Given the description of an element on the screen output the (x, y) to click on. 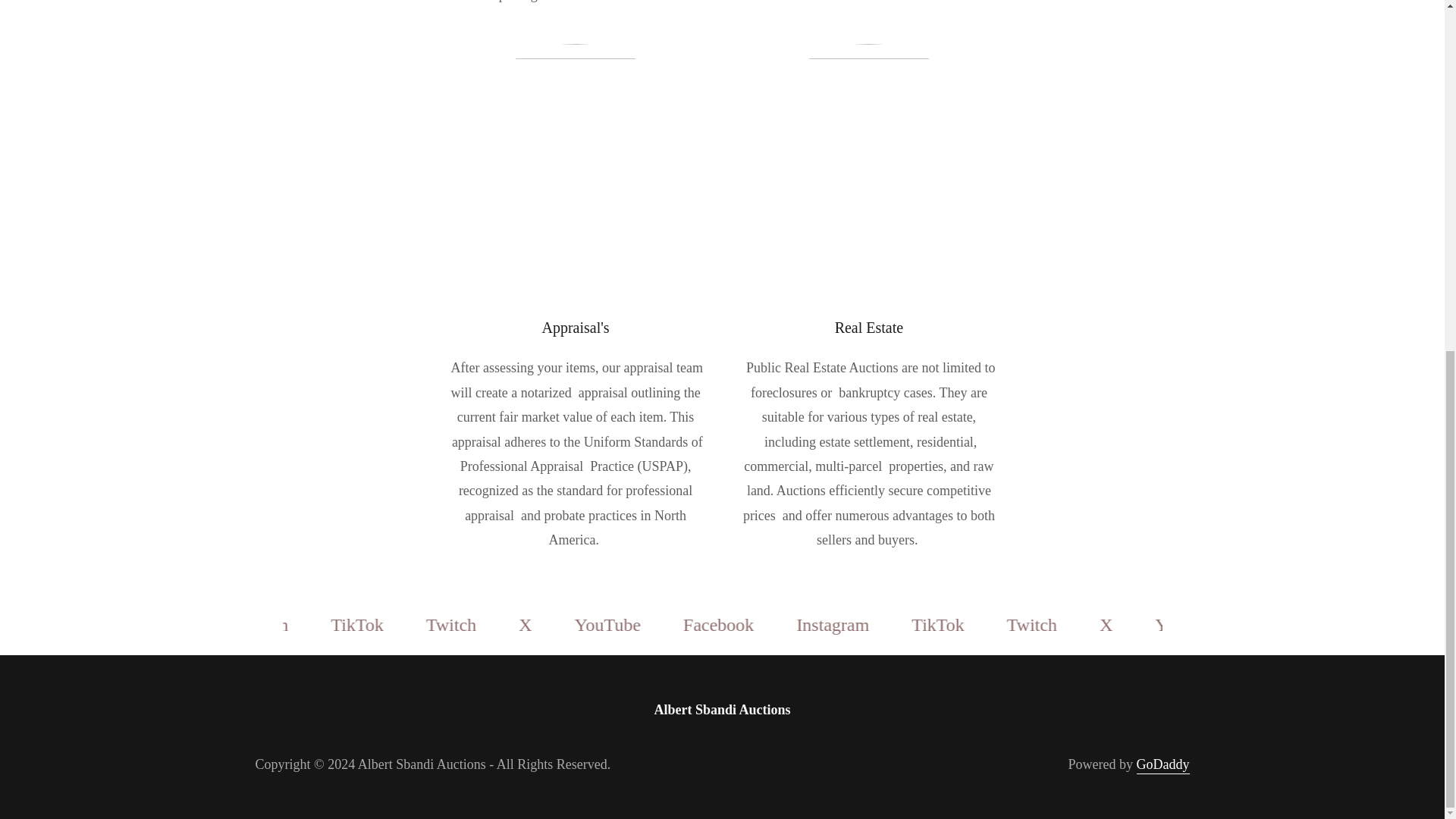
Facebook (269, 624)
TikTok (487, 624)
Instagram (957, 624)
YouTube (733, 624)
TikTok (1061, 624)
Twitch (579, 624)
Facebook (844, 624)
Instagram (382, 624)
Twitch (1154, 624)
